Given the description of an element on the screen output the (x, y) to click on. 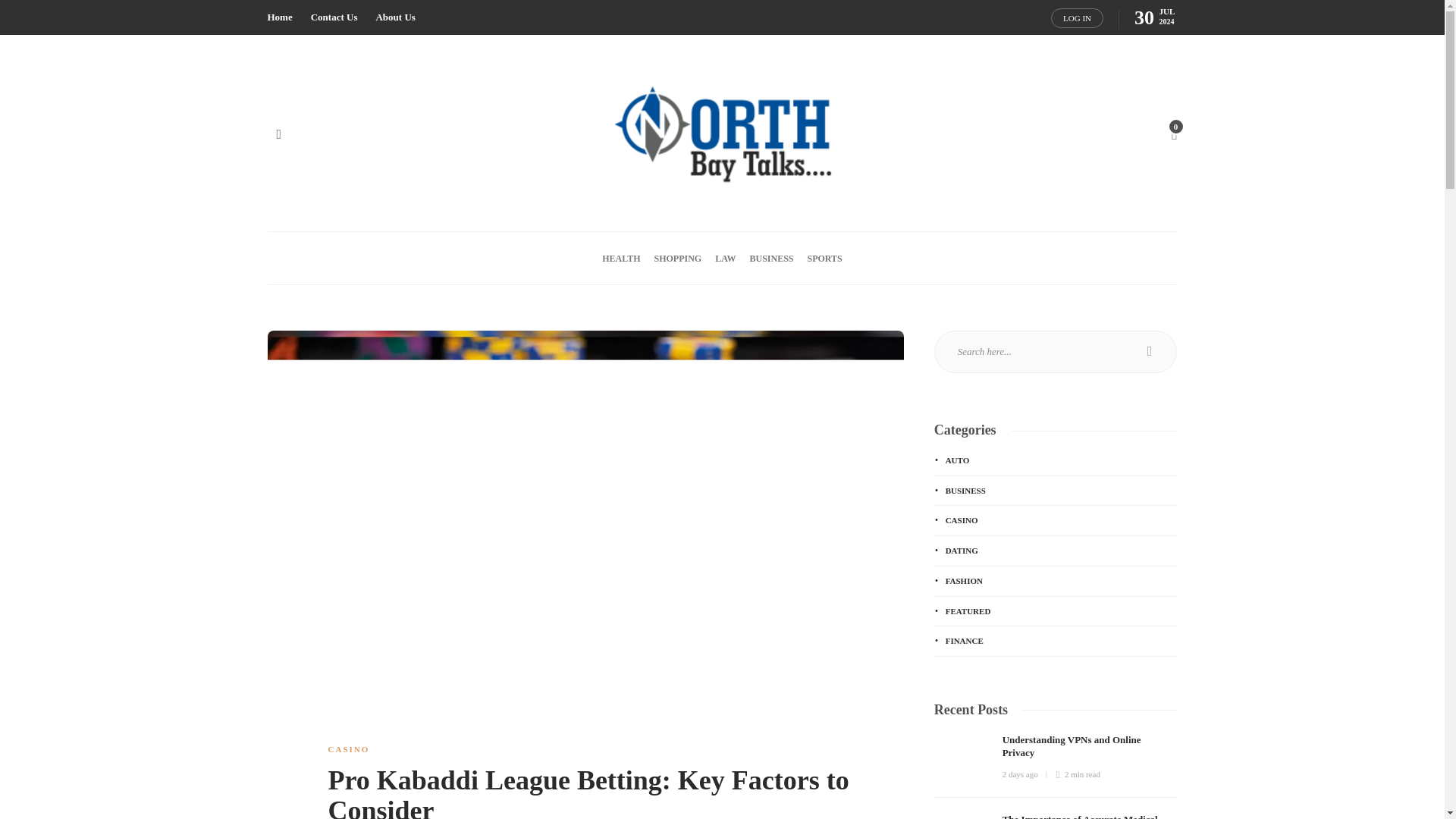
BUSINESS (771, 258)
About Us (394, 17)
LOG IN (1077, 17)
CASINO (348, 748)
Pro Kabaddi League Betting: Key Factors to Consider  (603, 792)
SPORTS (825, 258)
Home (279, 17)
SHOPPING (677, 258)
0 (1173, 132)
Search text (1055, 351)
HEALTH (621, 258)
Contact Us (334, 17)
LAW (724, 258)
